Given the description of an element on the screen output the (x, y) to click on. 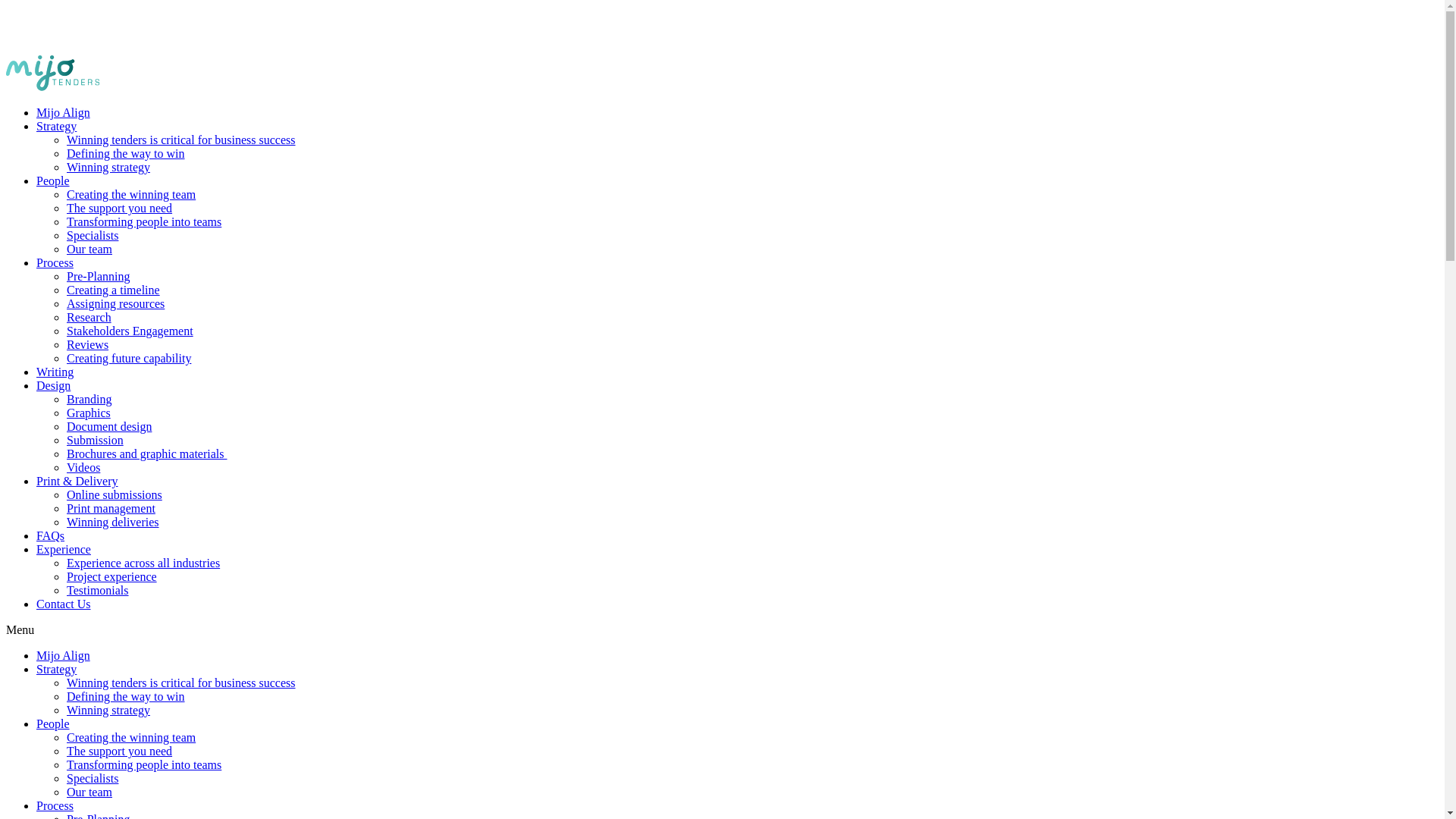
Winning strategy Element type: text (108, 166)
Winning tenders is critical for business success Element type: text (180, 139)
Experience Element type: text (63, 548)
Project experience Element type: text (111, 576)
People Element type: text (52, 180)
Graphics Element type: text (88, 412)
Winning deliveries Element type: text (112, 521)
Stakeholders Engagement Element type: text (129, 330)
FAQs Element type: text (50, 535)
Defining the way to win Element type: text (125, 153)
Process Element type: text (54, 262)
Specialists Element type: text (92, 777)
Experience across all industries Element type: text (142, 562)
Design Element type: text (53, 385)
Mijo Align Element type: text (63, 655)
Strategy Element type: text (56, 125)
Defining the way to win Element type: text (125, 696)
People Element type: text (52, 723)
Creating future capability Element type: text (128, 357)
Winning tenders is critical for business success Element type: text (180, 682)
Writing Element type: text (54, 371)
Pre-Planning Element type: text (98, 275)
Brochures and graphic materials  Element type: text (146, 453)
Online submissions Element type: text (114, 494)
Our team Element type: text (89, 791)
Process Element type: text (54, 805)
Print & Delivery Element type: text (77, 480)
Creating a timeline Element type: text (113, 289)
Strategy Element type: text (56, 668)
The support you need Element type: text (119, 207)
Creating the winning team Element type: text (130, 194)
Videos Element type: text (83, 467)
Branding Element type: text (89, 398)
Assigning resources Element type: text (115, 303)
Our team Element type: text (89, 248)
Contact Us Element type: text (63, 603)
Specialists Element type: text (92, 235)
Submission Element type: text (94, 439)
Document design Element type: text (108, 426)
Print management Element type: text (110, 508)
Transforming people into teams Element type: text (143, 221)
Winning strategy Element type: text (108, 709)
The support you need Element type: text (119, 750)
Reviews Element type: text (87, 344)
Mijo Align Element type: text (63, 112)
Creating the winning team Element type: text (130, 737)
Research Element type: text (88, 316)
Testimonials Element type: text (97, 589)
Transforming people into teams Element type: text (143, 764)
